Given the description of an element on the screen output the (x, y) to click on. 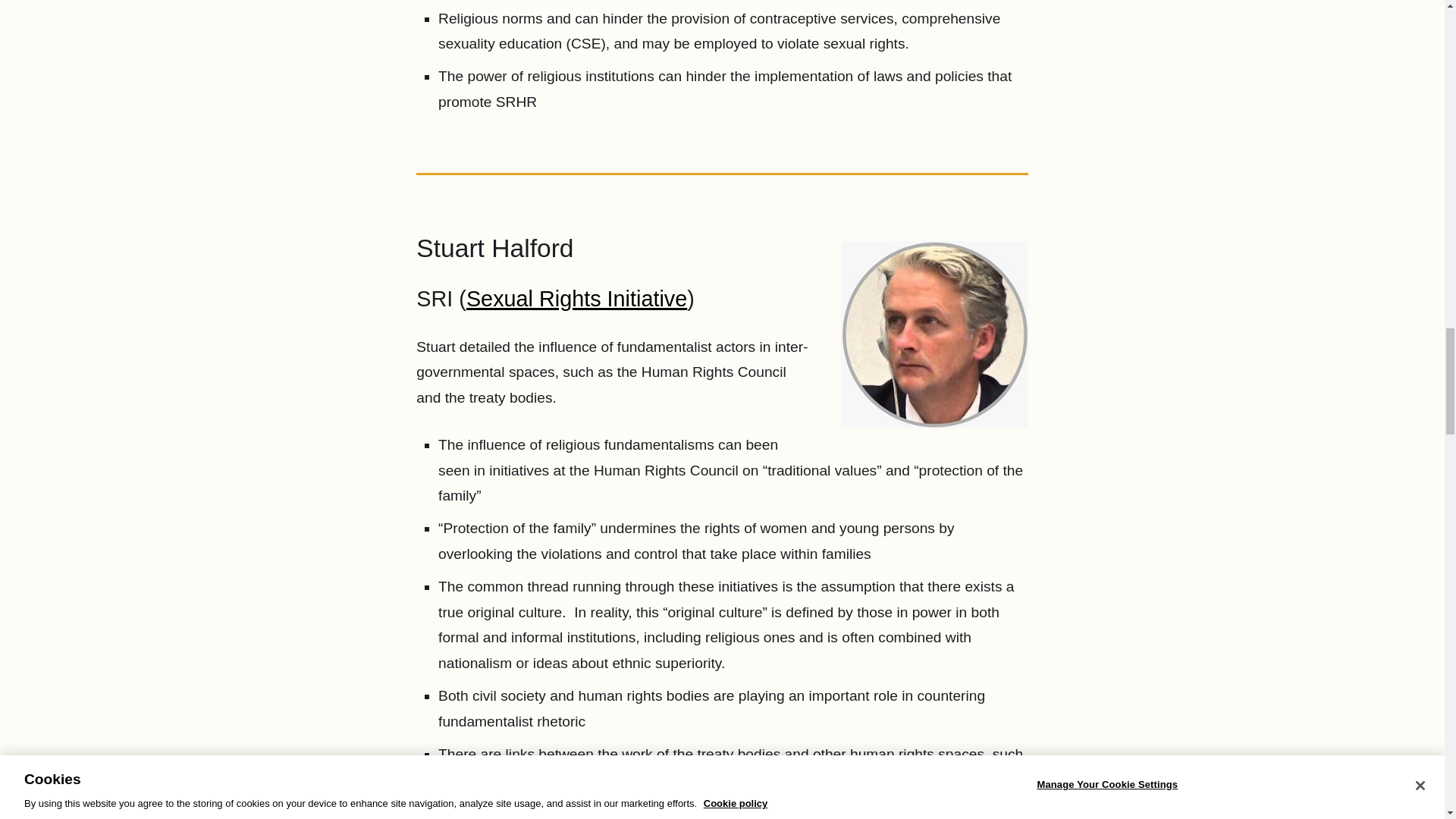
Sexual Rights Initiative (576, 298)
